Given the description of an element on the screen output the (x, y) to click on. 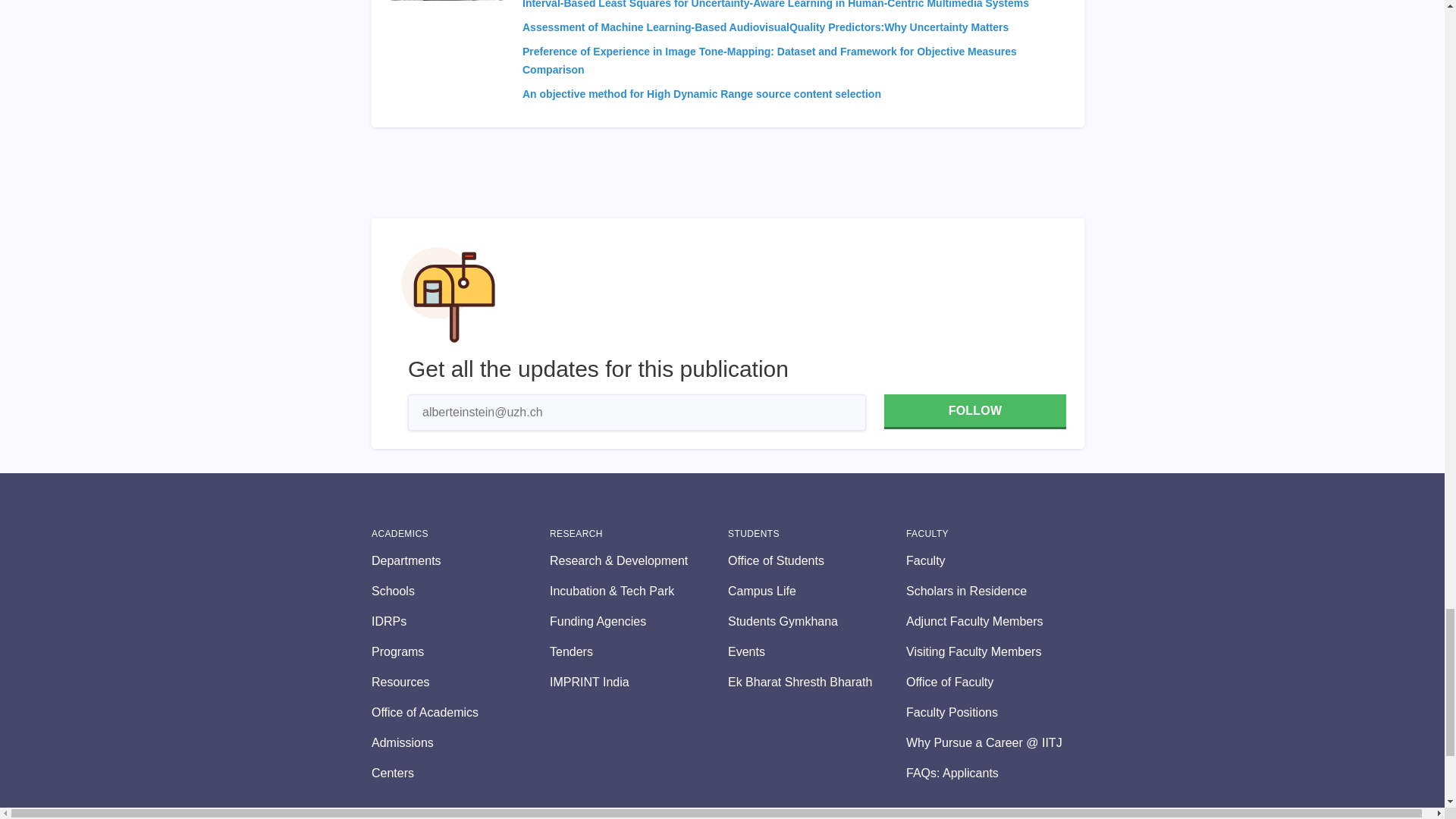
Office of Academics (460, 712)
Resources (460, 682)
Subscribe form hero illustration (448, 294)
Funding Agencies (639, 621)
Schools (460, 591)
Tenders (639, 651)
Departments (460, 561)
FOLLOW (974, 411)
Centers (460, 773)
Admissions (460, 742)
Office of Students (816, 561)
